Given the description of an element on the screen output the (x, y) to click on. 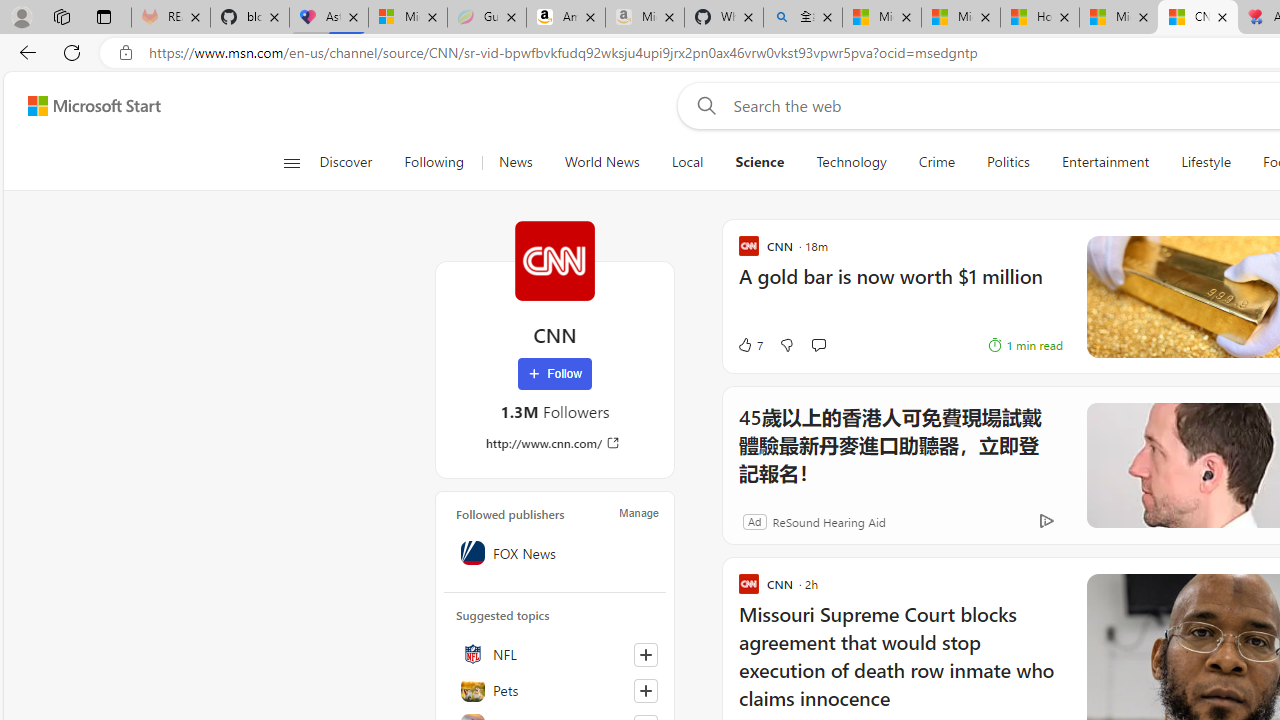
Manage (639, 512)
NFL (555, 654)
Follow this topic (645, 690)
